Given the description of an element on the screen output the (x, y) to click on. 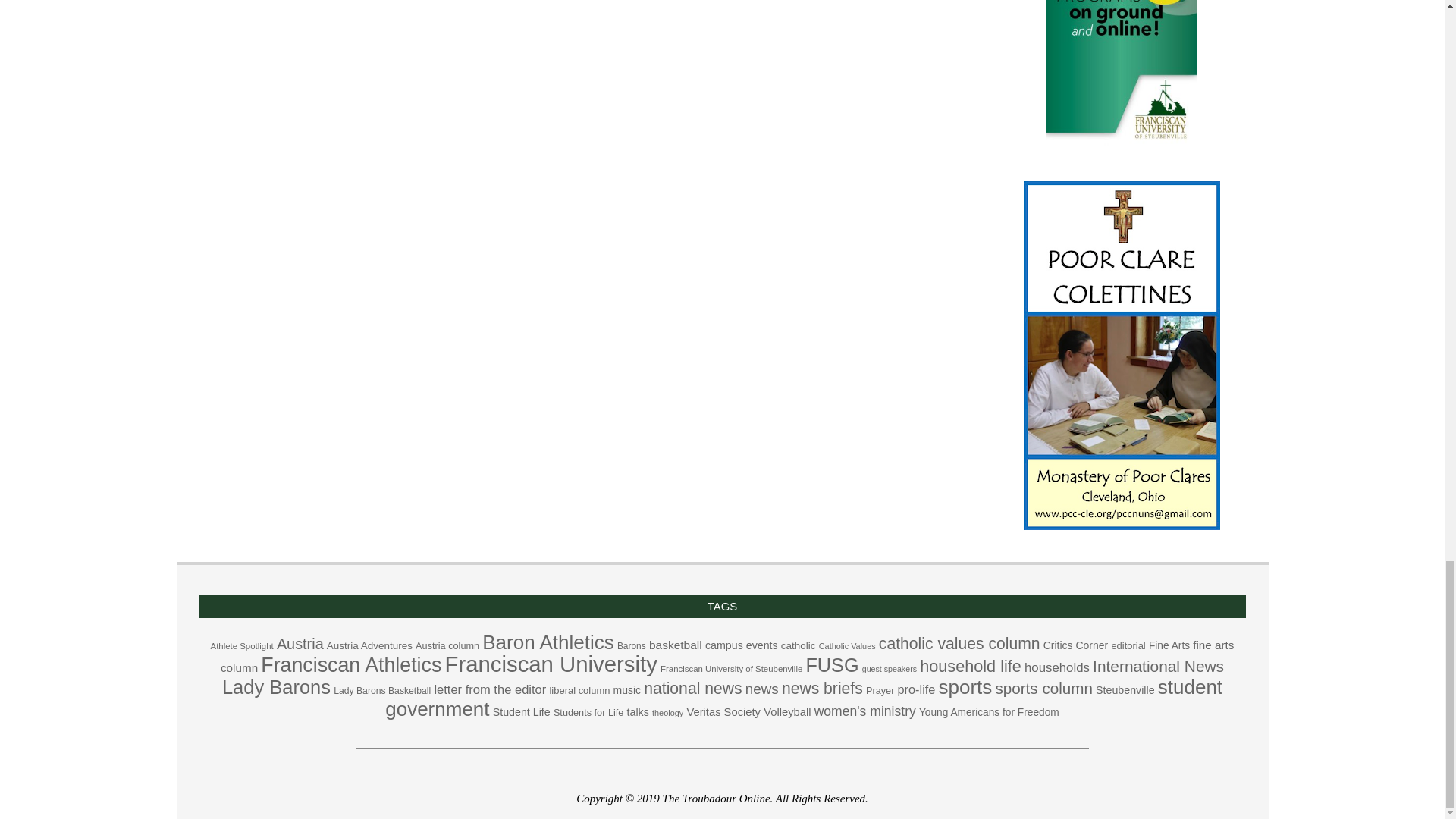
Franciscan University of Steubenville (731, 668)
Austria column (446, 645)
basketball (675, 644)
Franciscan Athletics (350, 664)
Baron Athletics (546, 641)
catholic (797, 645)
Catholic Values (847, 645)
catholic values column (960, 642)
FUSG (832, 664)
Critics Corner (1075, 645)
